Given the description of an element on the screen output the (x, y) to click on. 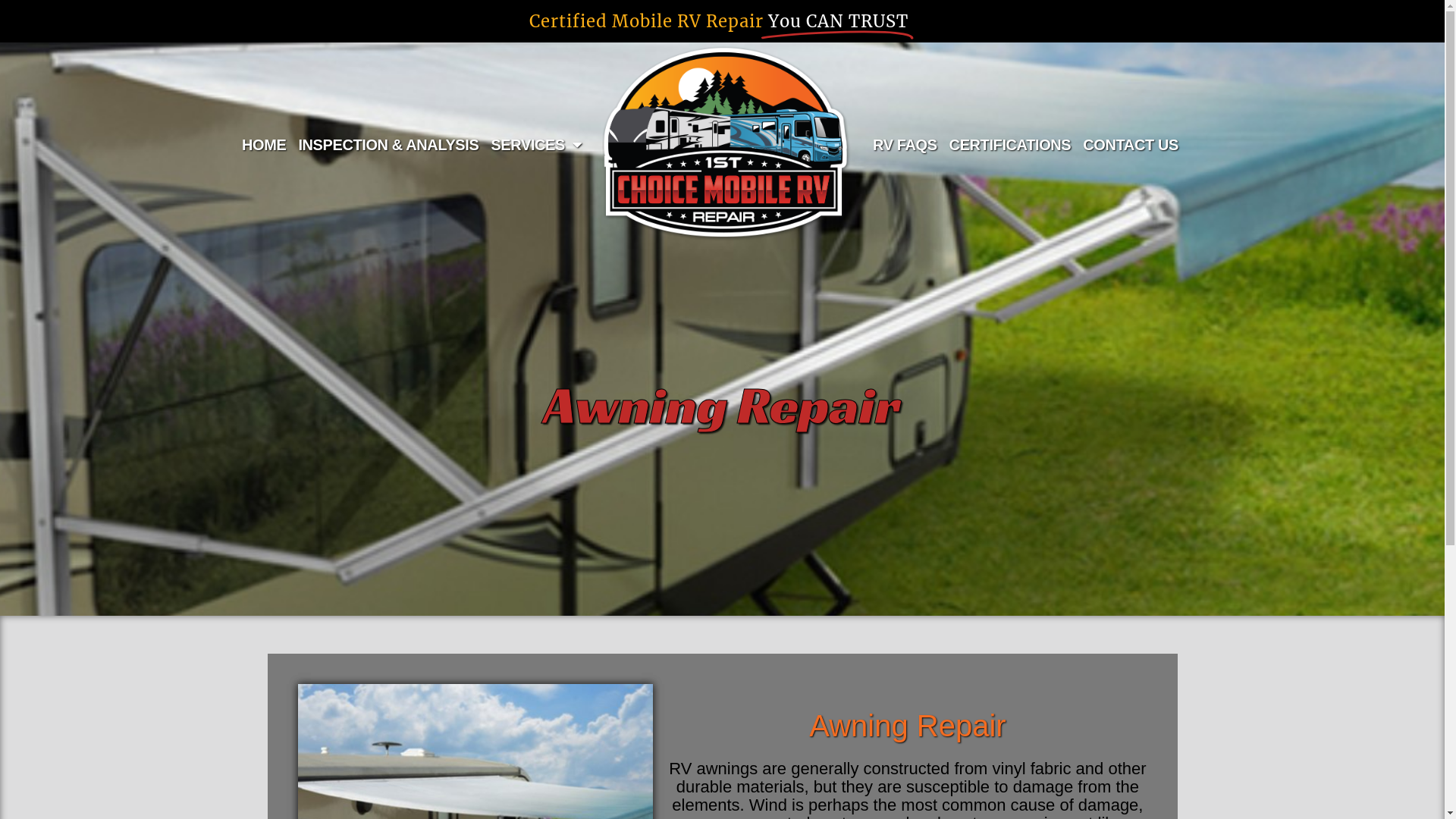
SERVICES Element type: text (535, 144)
CERTIFICATIONS Element type: text (1010, 144)
INSPECTION & ANALYSIS Element type: text (387, 144)
RV FAQS Element type: text (904, 144)
CONTACT US Element type: text (1130, 144)
First Choice Mobile RV Repair Montgomery Texas 77316 Element type: hover (727, 144)
HOME Element type: text (263, 144)
